Given the description of an element on the screen output the (x, y) to click on. 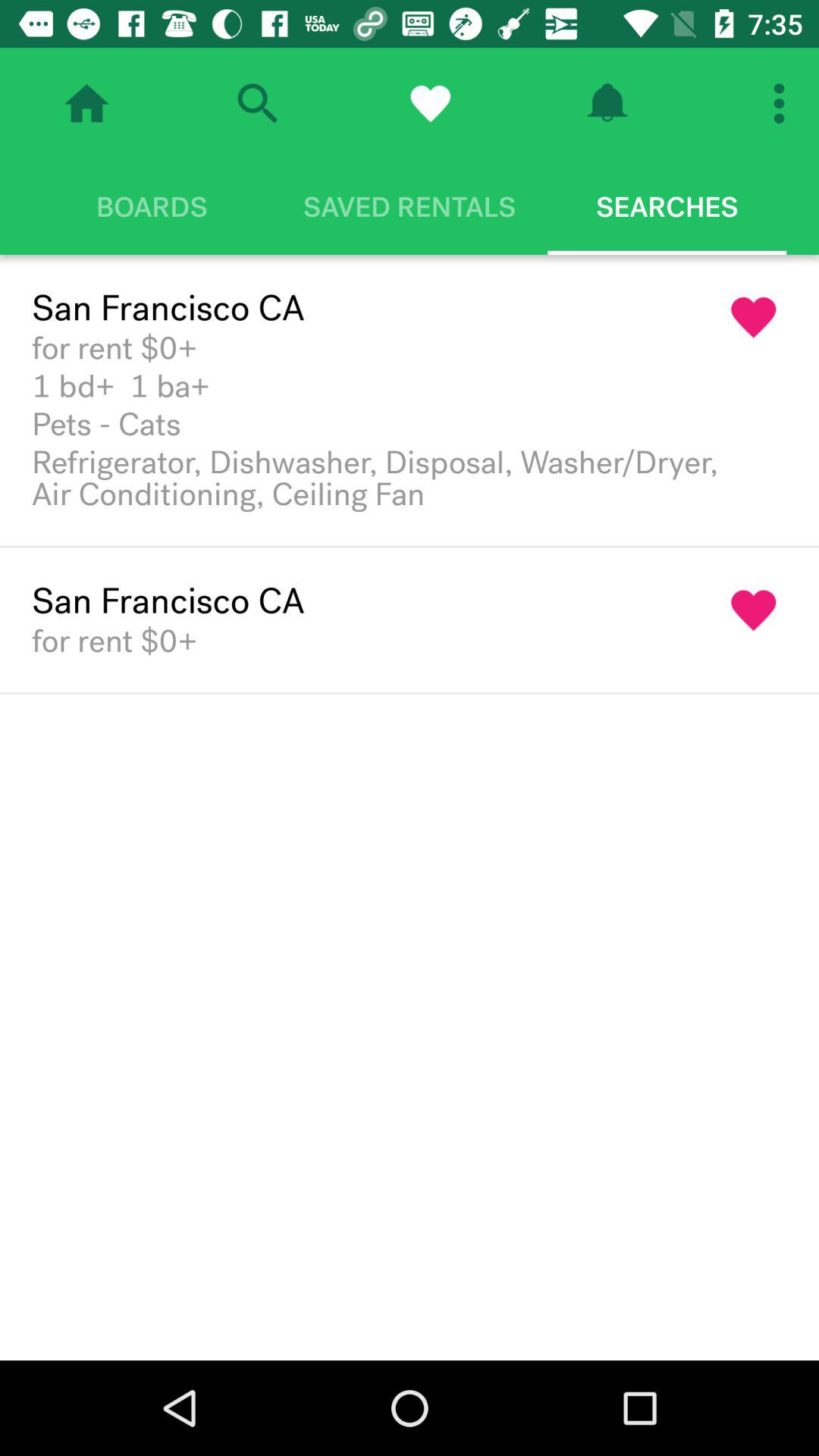
search (257, 103)
